Given the description of an element on the screen output the (x, y) to click on. 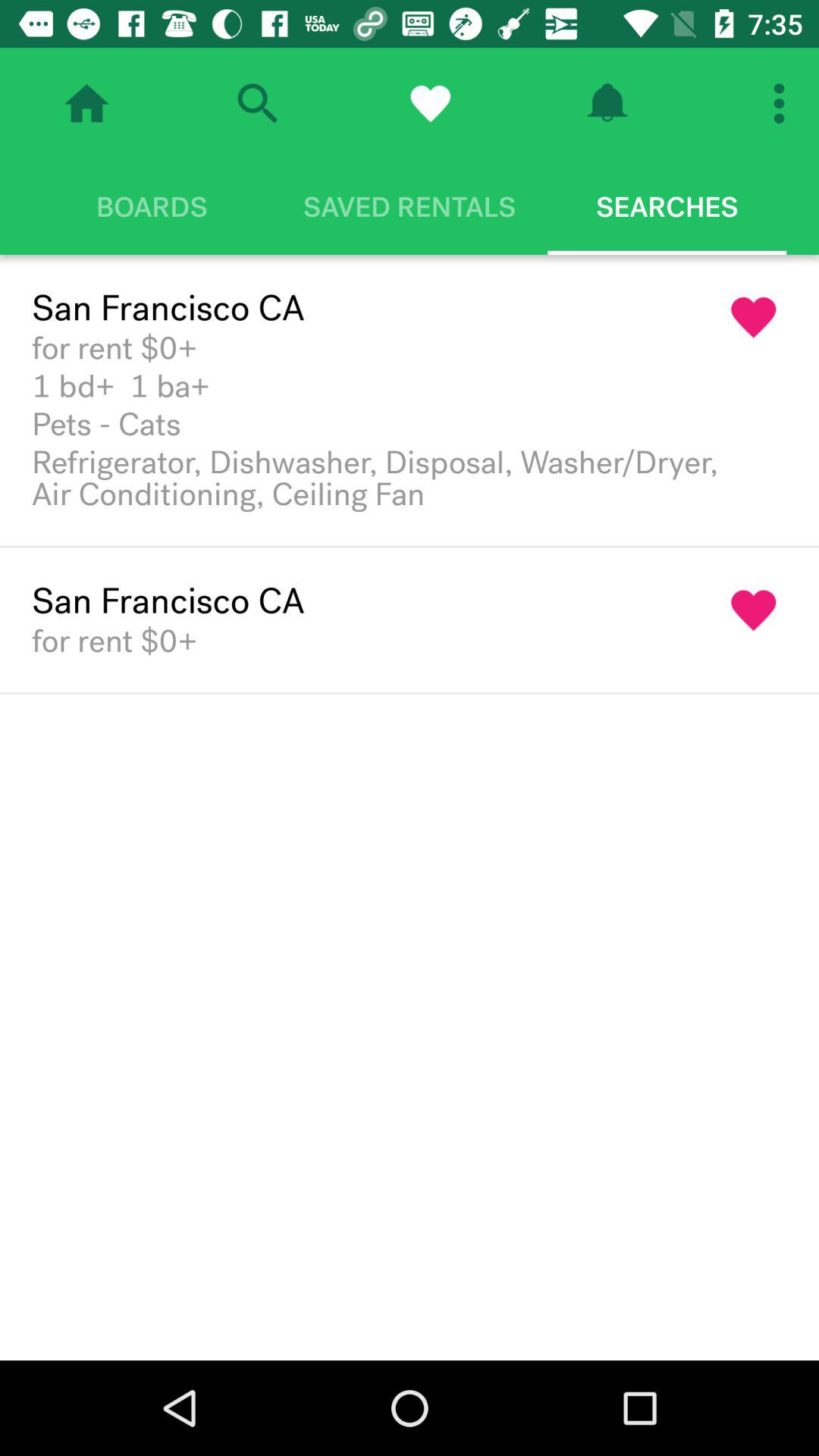
search (257, 103)
